Given the description of an element on the screen output the (x, y) to click on. 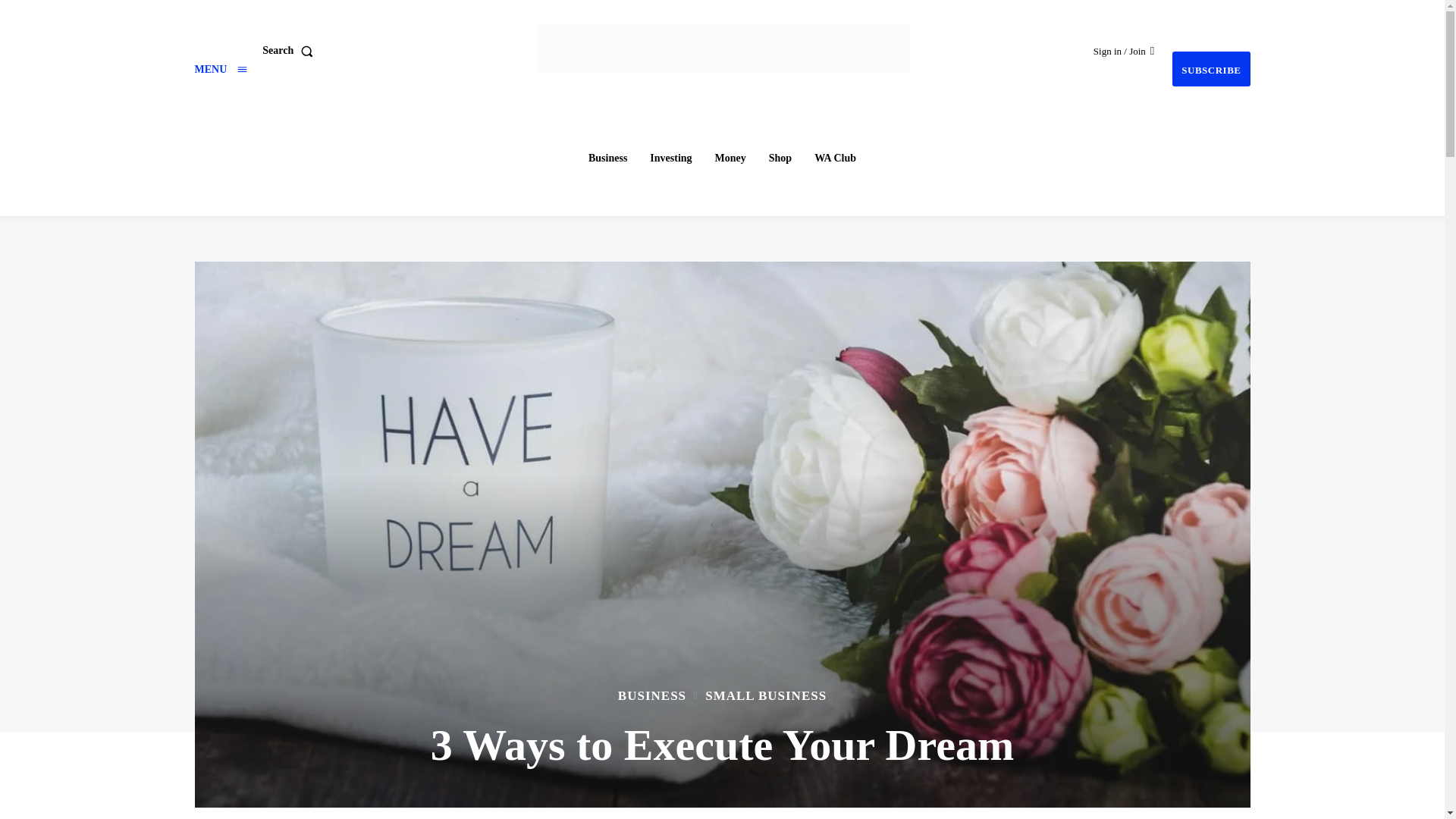
Menu (220, 69)
MENU (220, 69)
Subscribe (1210, 68)
